Given the description of an element on the screen output the (x, y) to click on. 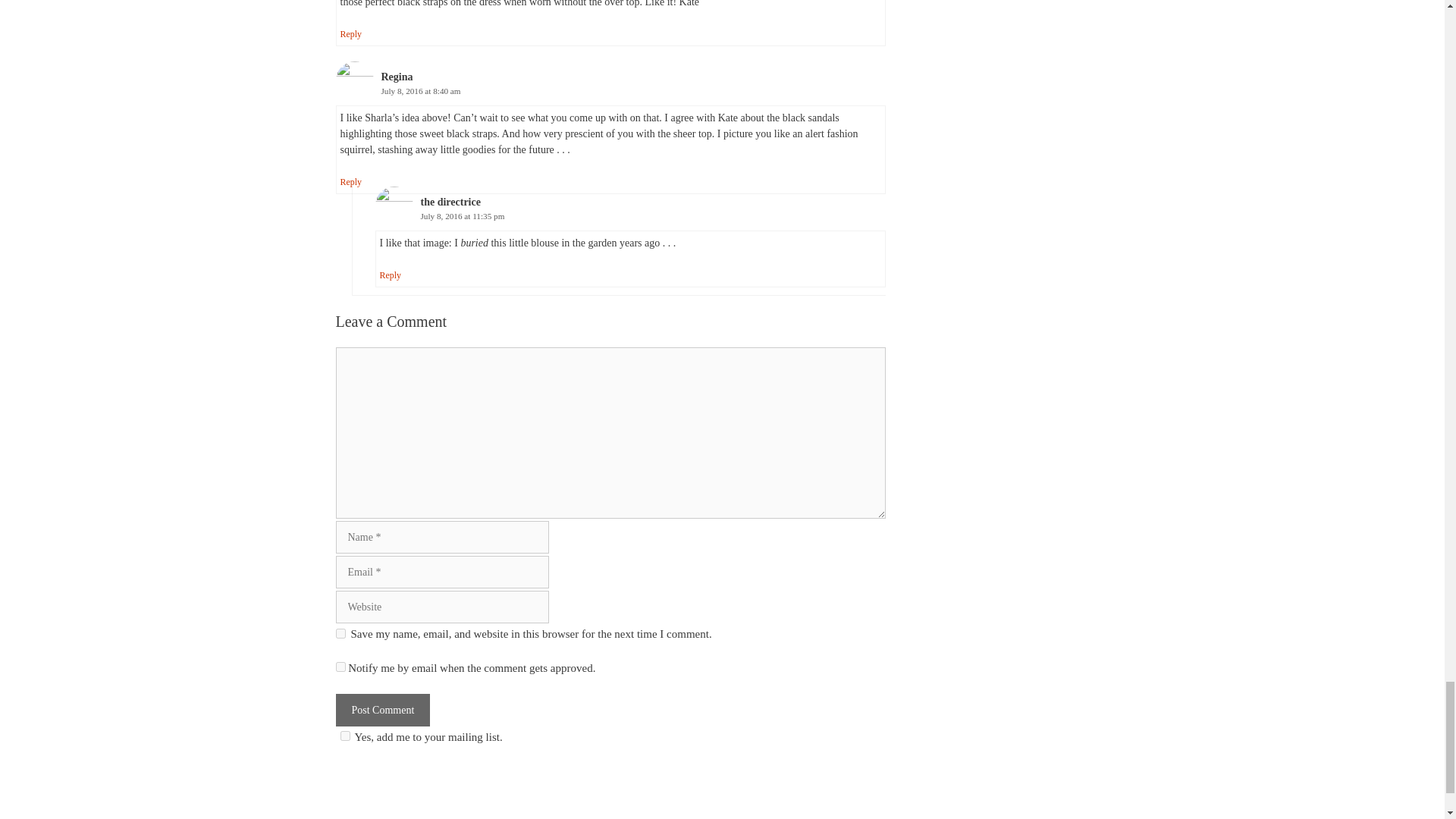
Post Comment (381, 709)
yes (339, 633)
1 (343, 736)
1 (339, 666)
